Given the description of an element on the screen output the (x, y) to click on. 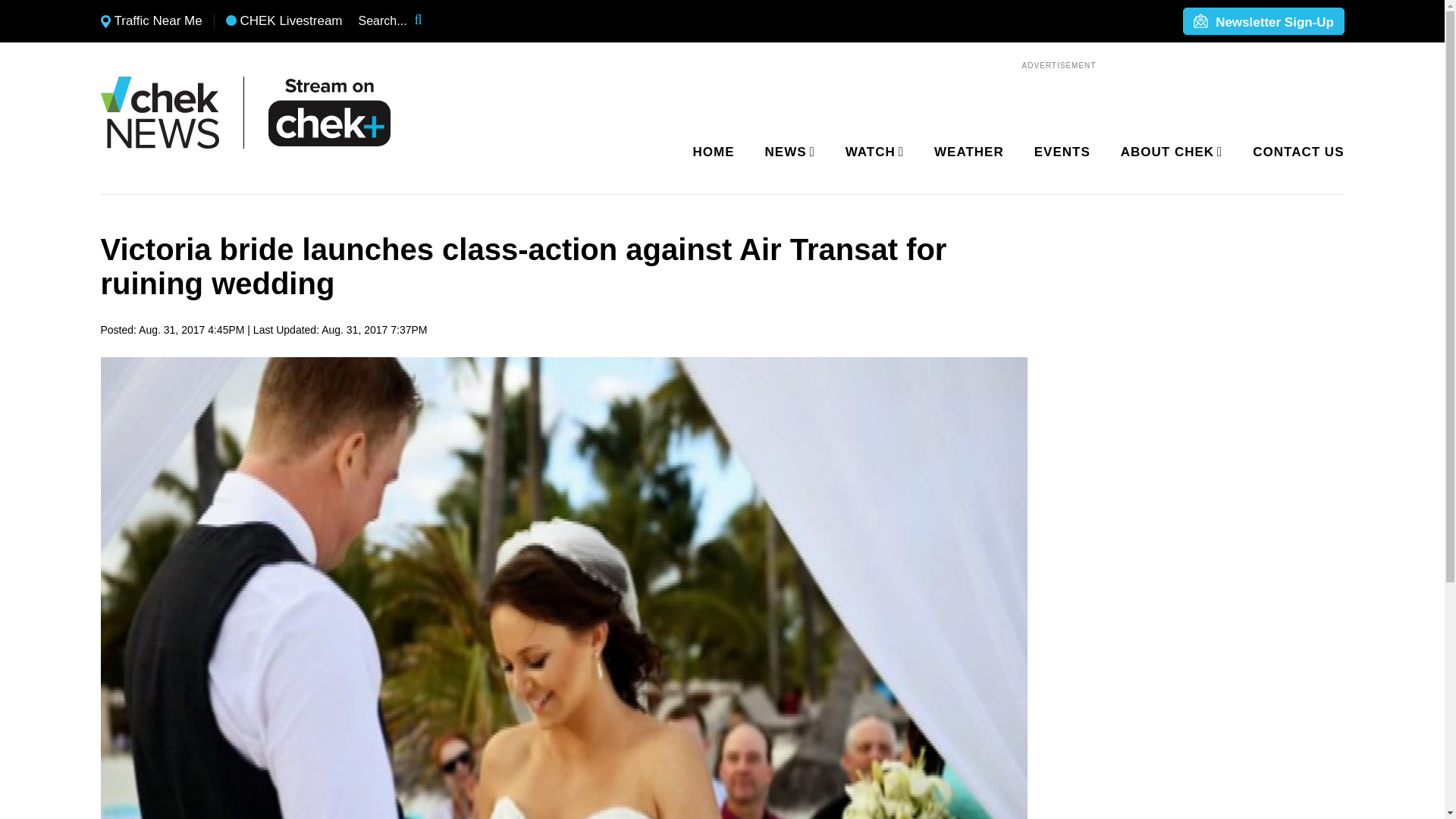
Search (428, 21)
CHEK Livestream (283, 20)
HOME (714, 152)
NEWS (787, 152)
Traffic Near Me (151, 20)
Newsletter Sign-Up (1262, 22)
